Given the description of an element on the screen output the (x, y) to click on. 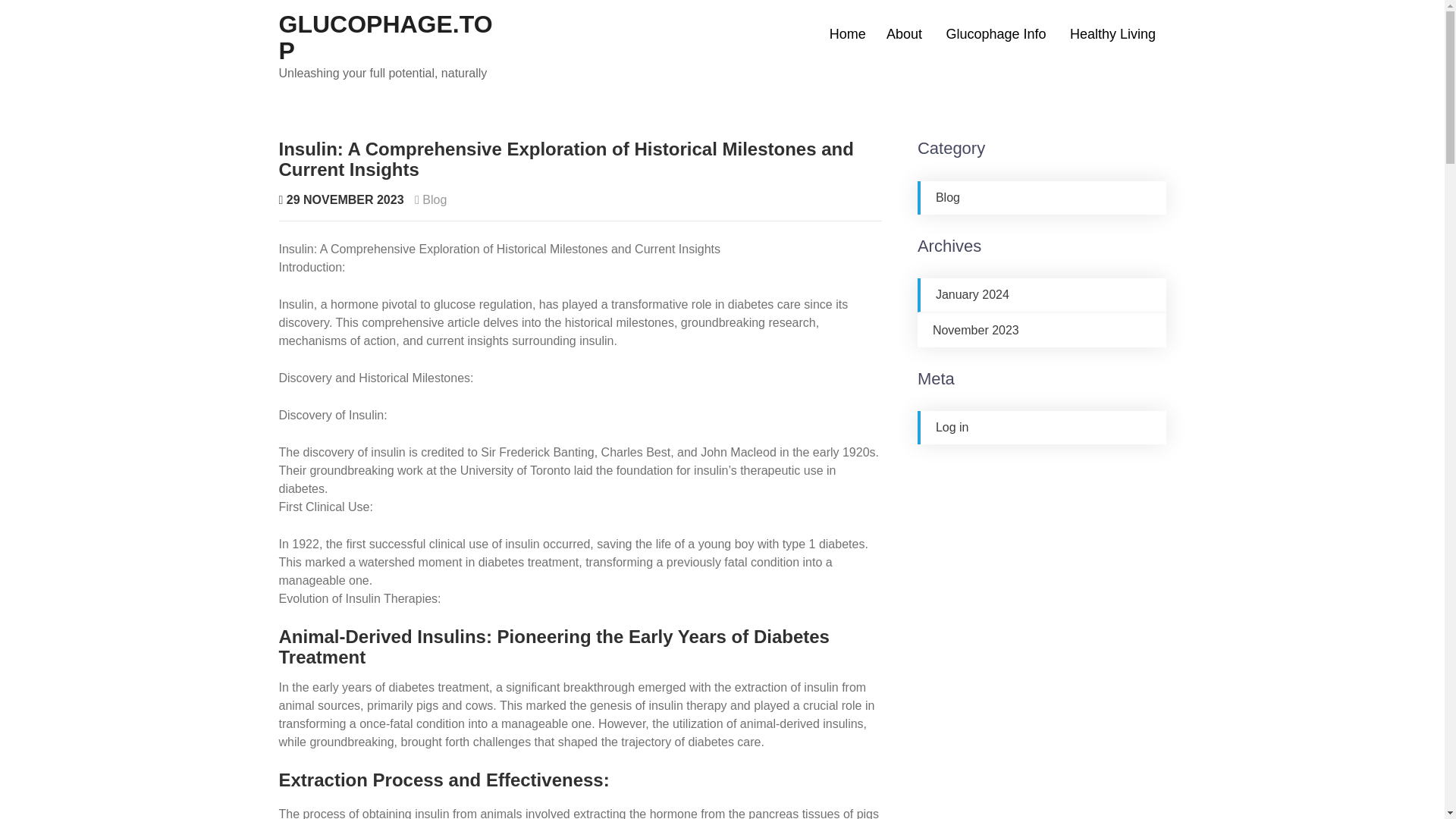
GLUCOPHAGE.TOP (386, 37)
Blog (947, 196)
November 2023 (976, 329)
Healthy Living (1112, 34)
January 2024 (972, 294)
Blog (434, 199)
Glucophage Info (996, 34)
Log in (952, 427)
